Given the description of an element on the screen output the (x, y) to click on. 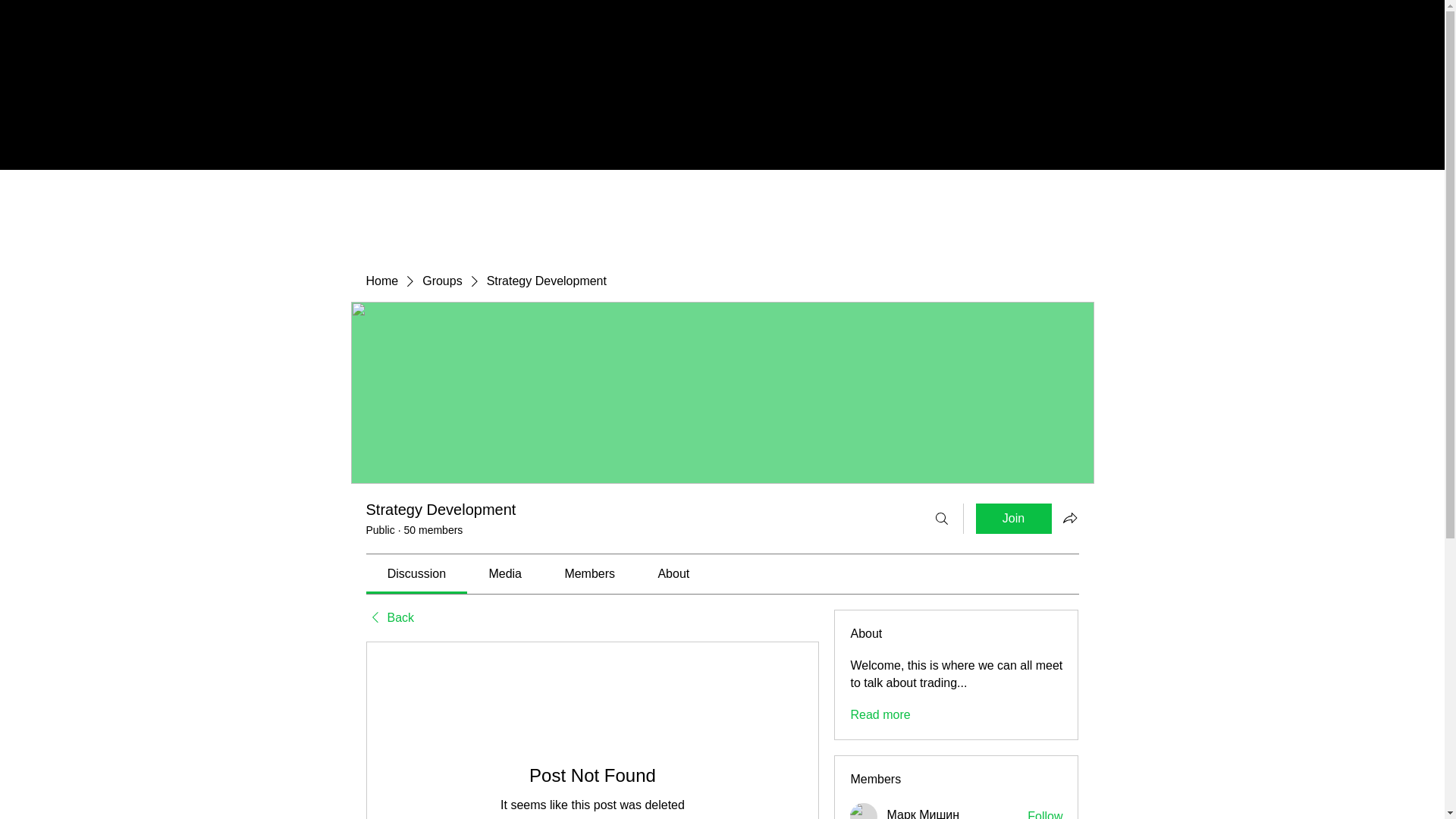
Groups (441, 280)
Read more (880, 714)
Back (389, 617)
Follow (1044, 813)
Join (1013, 518)
Home (381, 280)
